Given the description of an element on the screen output the (x, y) to click on. 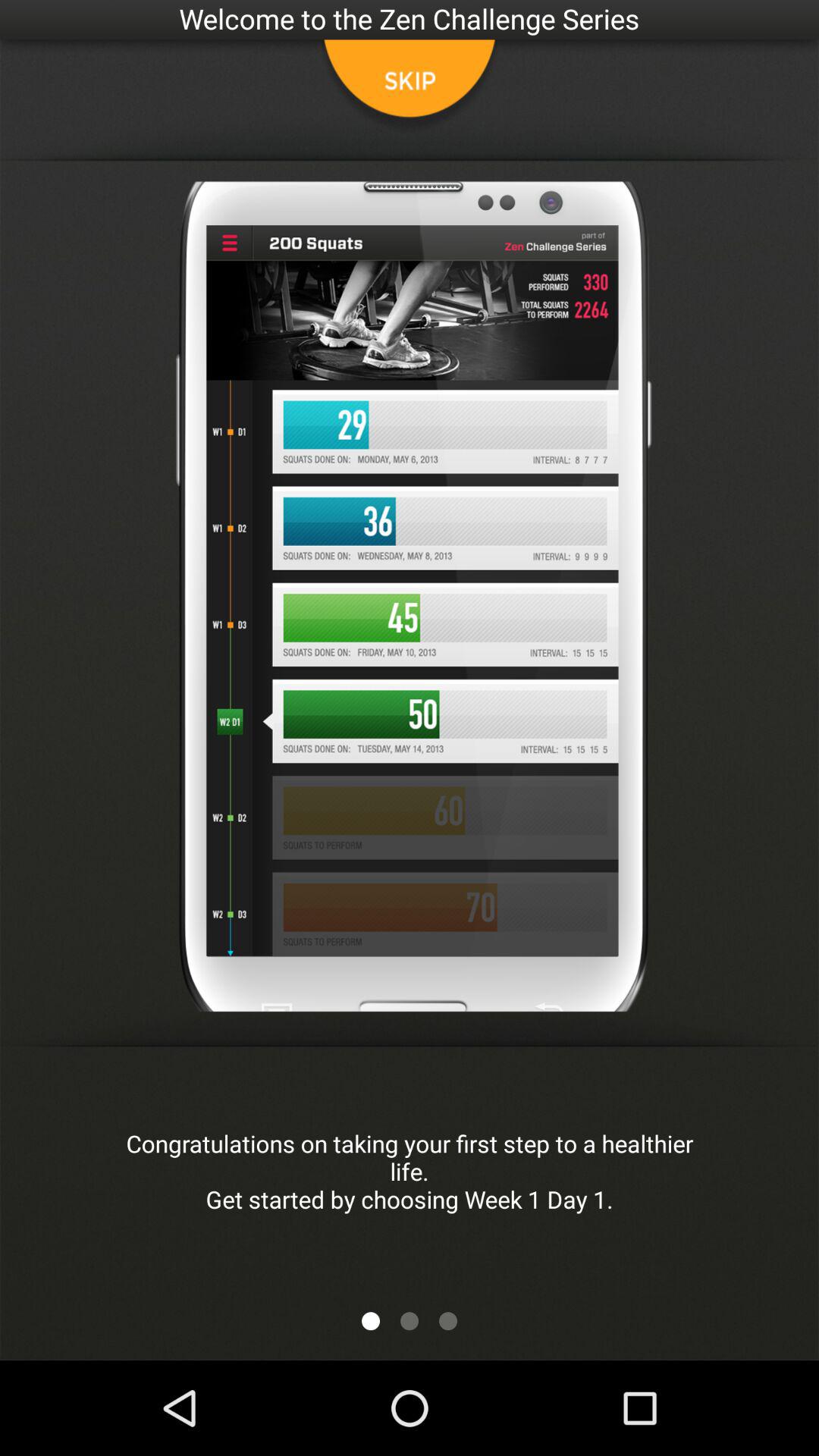
click to more option (409, 1321)
